Given the description of an element on the screen output the (x, y) to click on. 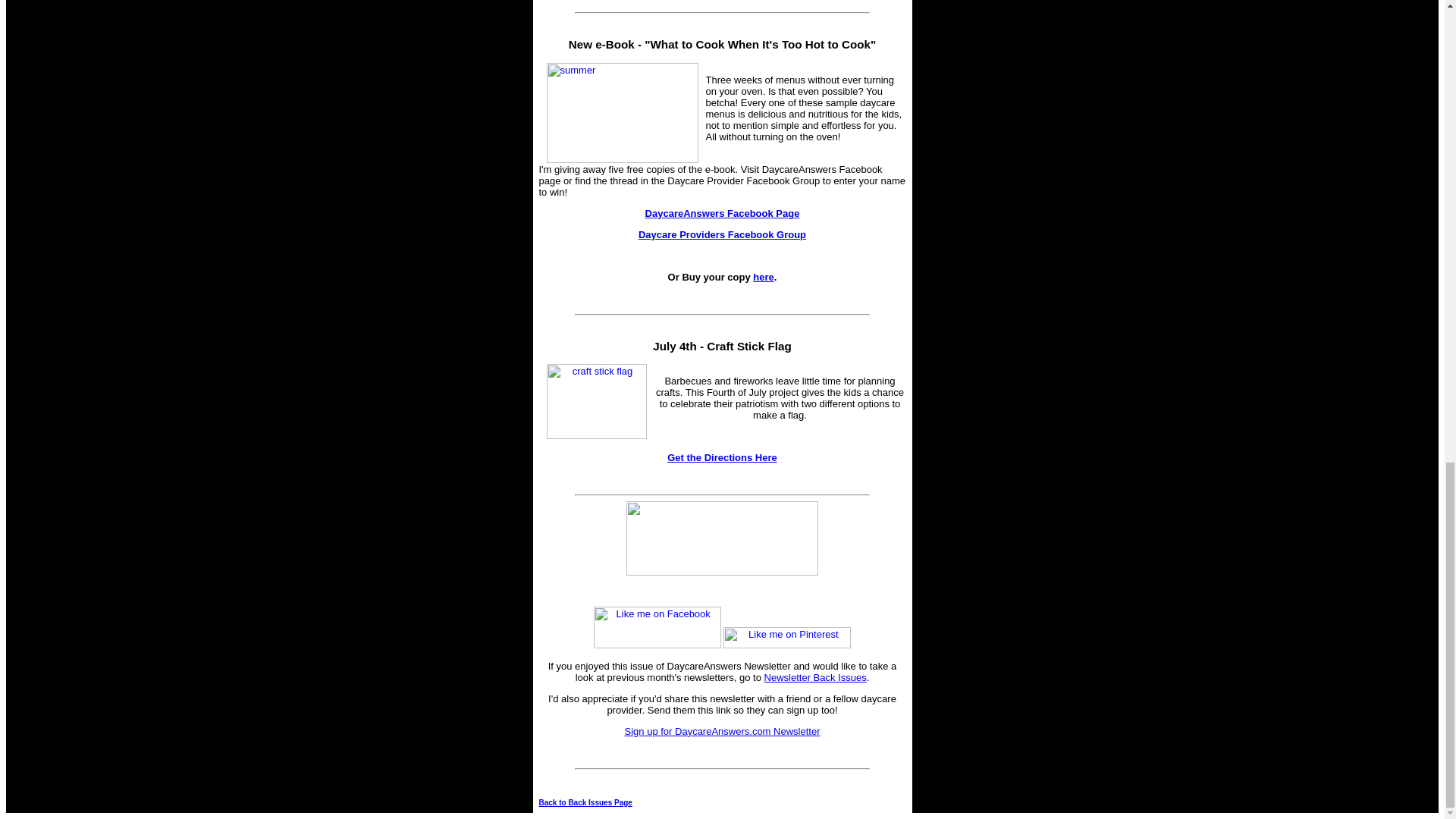
here (762, 276)
July 4th - Craft Stick Flag (721, 345)
Sign up for DaycareAnswers.com Newsletter (722, 731)
Get the Directions Here (721, 457)
DaycareAnswers Facebook Page (722, 213)
New e-Book - "What to Cook When It's Too Hot to Cook" (722, 43)
Back to Back Issues Page (584, 802)
Newsletter Back Issues (815, 677)
Daycare Providers Facebook Group (722, 234)
